Given the description of an element on the screen output the (x, y) to click on. 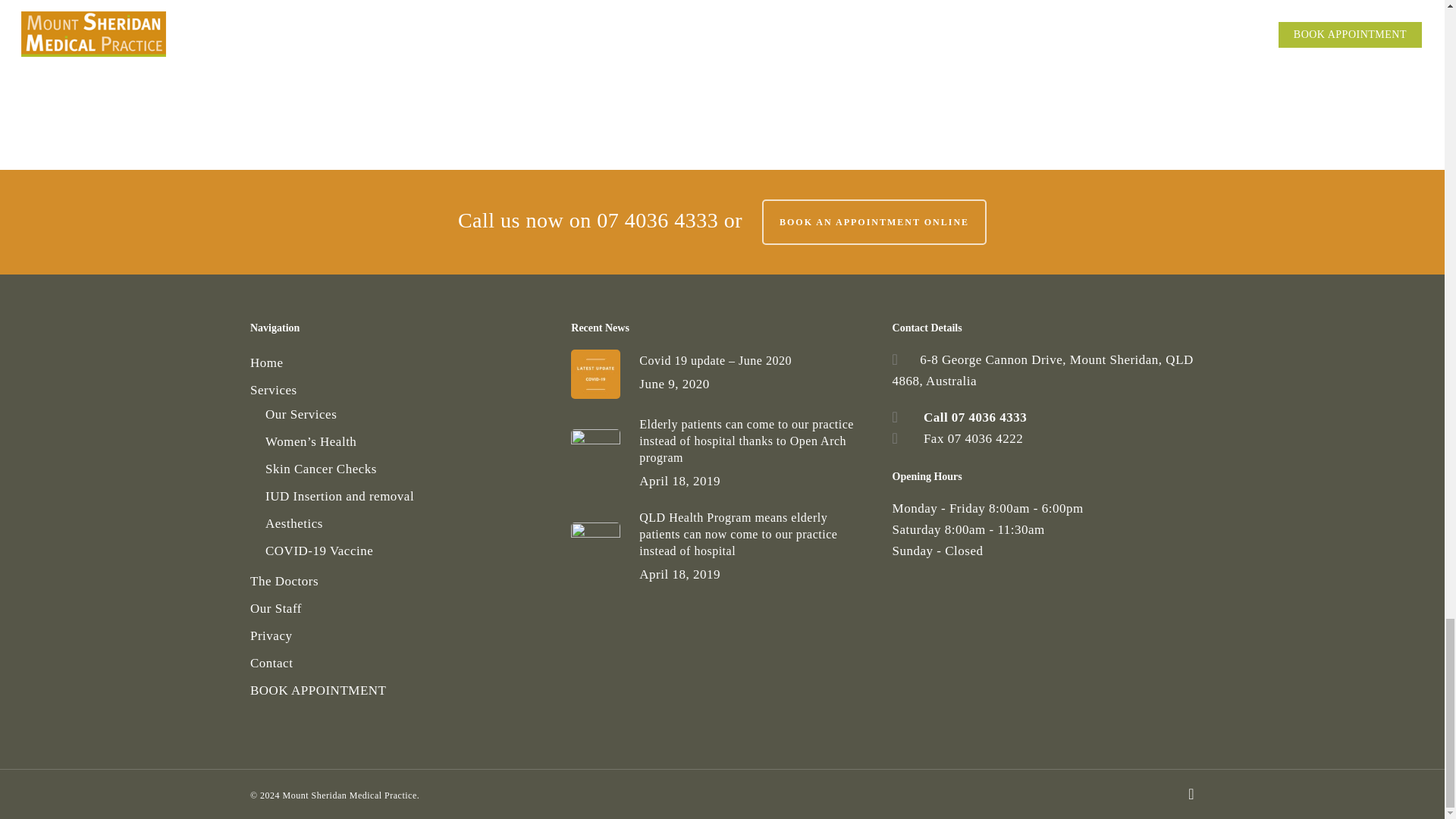
COVID-19 Vaccine (407, 550)
The Doctors (400, 581)
Our Staff (400, 608)
Aesthetics (407, 523)
Our Services (407, 414)
Services (400, 390)
Privacy (400, 636)
IUD Insertion and removal (407, 496)
BOOK AN APPOINTMENT ONLINE (874, 221)
Skin Cancer Checks (407, 468)
Home (400, 362)
